Given the description of an element on the screen output the (x, y) to click on. 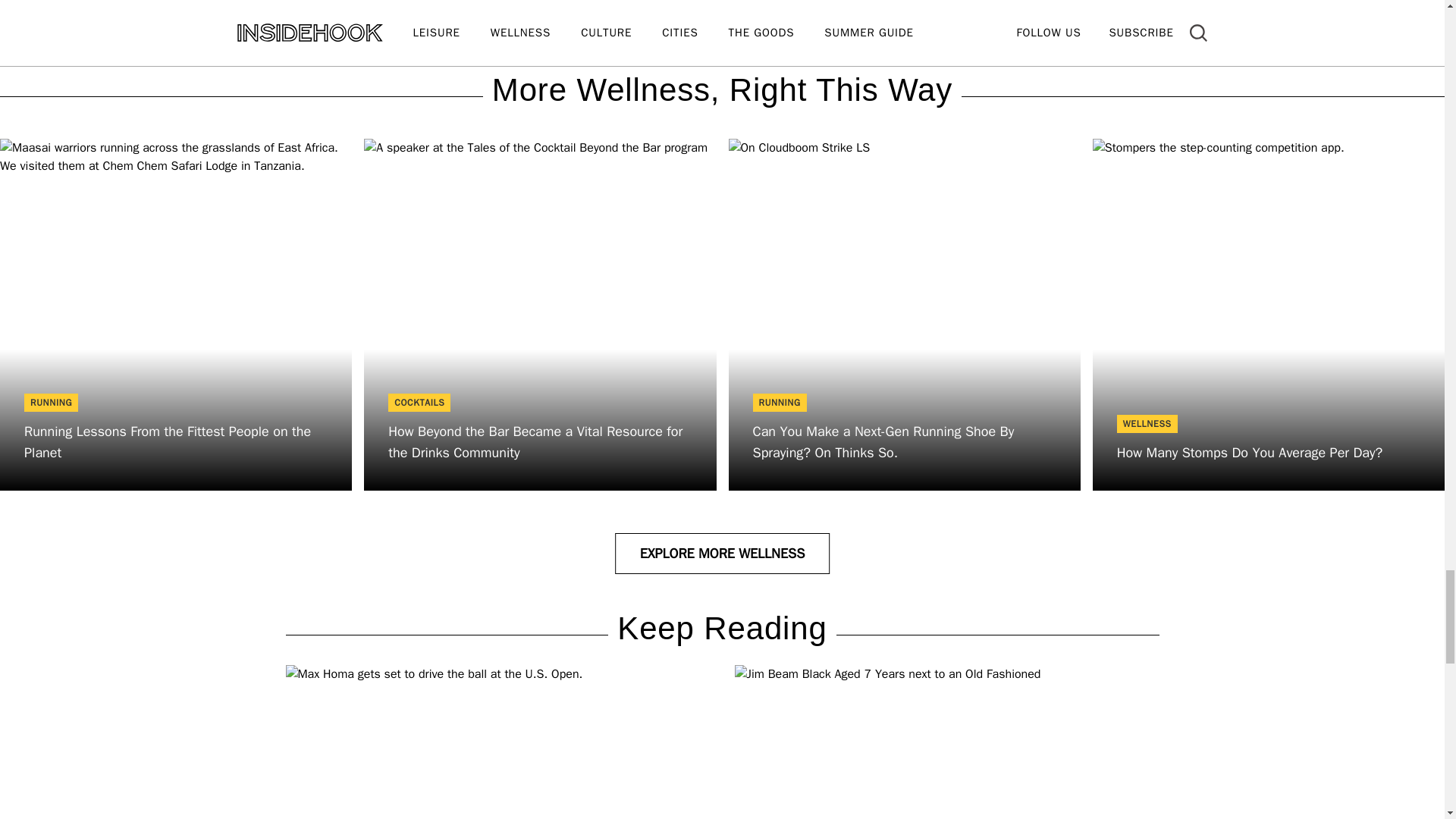
on (394, 5)
